Given the description of an element on the screen output the (x, y) to click on. 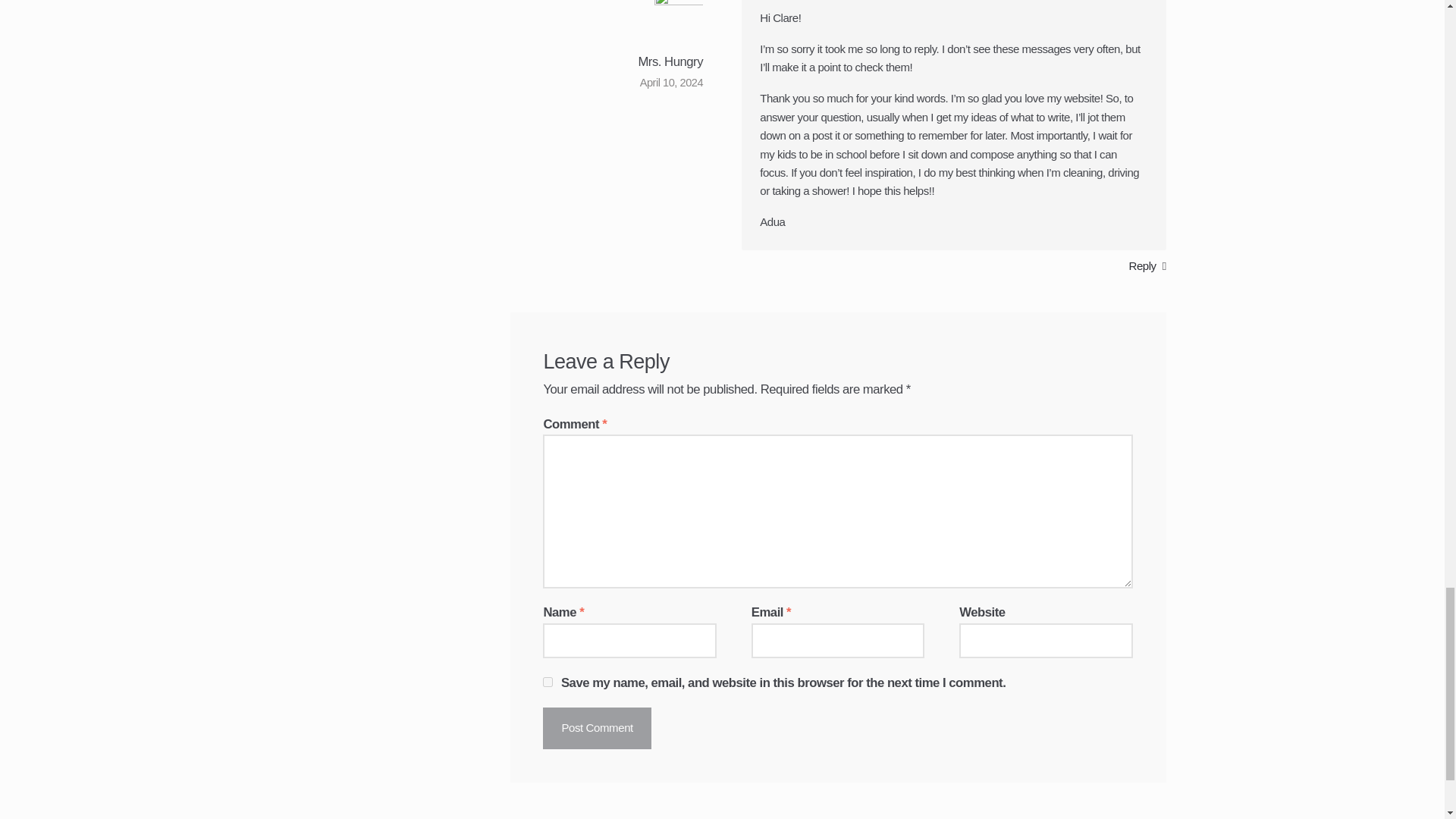
Reply (1147, 266)
April 10, 2024 (671, 82)
Post Comment (596, 728)
yes (548, 682)
Post Comment (596, 728)
